Given the description of an element on the screen output the (x, y) to click on. 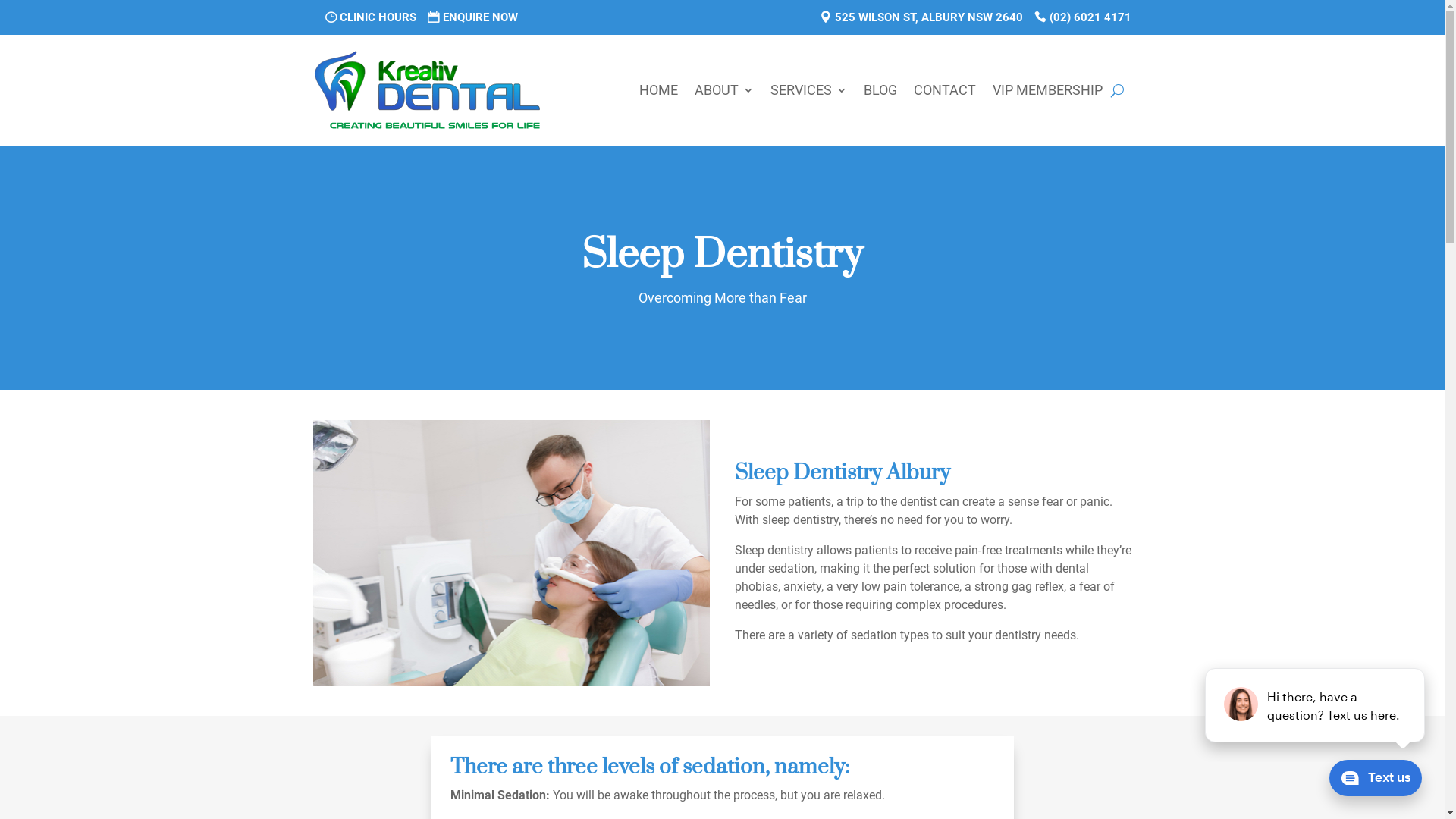
525 WILSON ST, ALBURY NSW 2640 Element type: text (920, 17)
HOME Element type: text (657, 90)
BLOG Element type: text (879, 90)
ABOUT Element type: text (723, 90)
(02) 6021 4171 Element type: text (1082, 17)
SERVICES Element type: text (808, 90)
VIP MEMBERSHIP Element type: text (1046, 90)
podium webchat widget prompt Element type: hover (1315, 705)
CLINIC HOURS Element type: text (370, 17)
CONTACT Element type: text (944, 90)
ENQUIRE NOW Element type: text (472, 17)
